Given the description of an element on the screen output the (x, y) to click on. 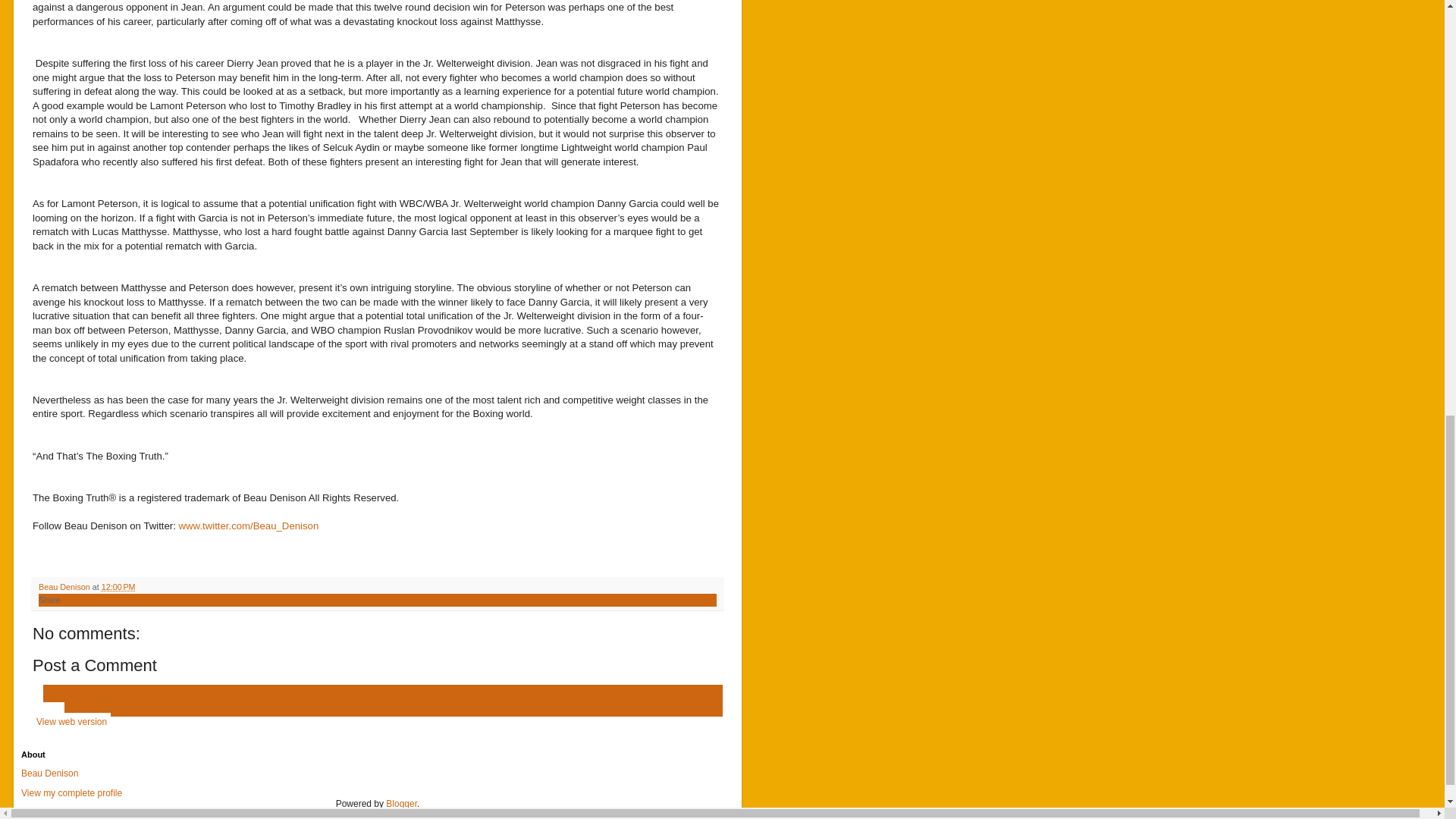
Share (50, 599)
Home (48, 710)
View my complete profile (71, 792)
Blogger (400, 803)
permanent link (118, 586)
View web version (71, 721)
Beau Denison (66, 586)
Beau Denison (49, 773)
author profile (66, 586)
Post a Comment (94, 665)
